Given the description of an element on the screen output the (x, y) to click on. 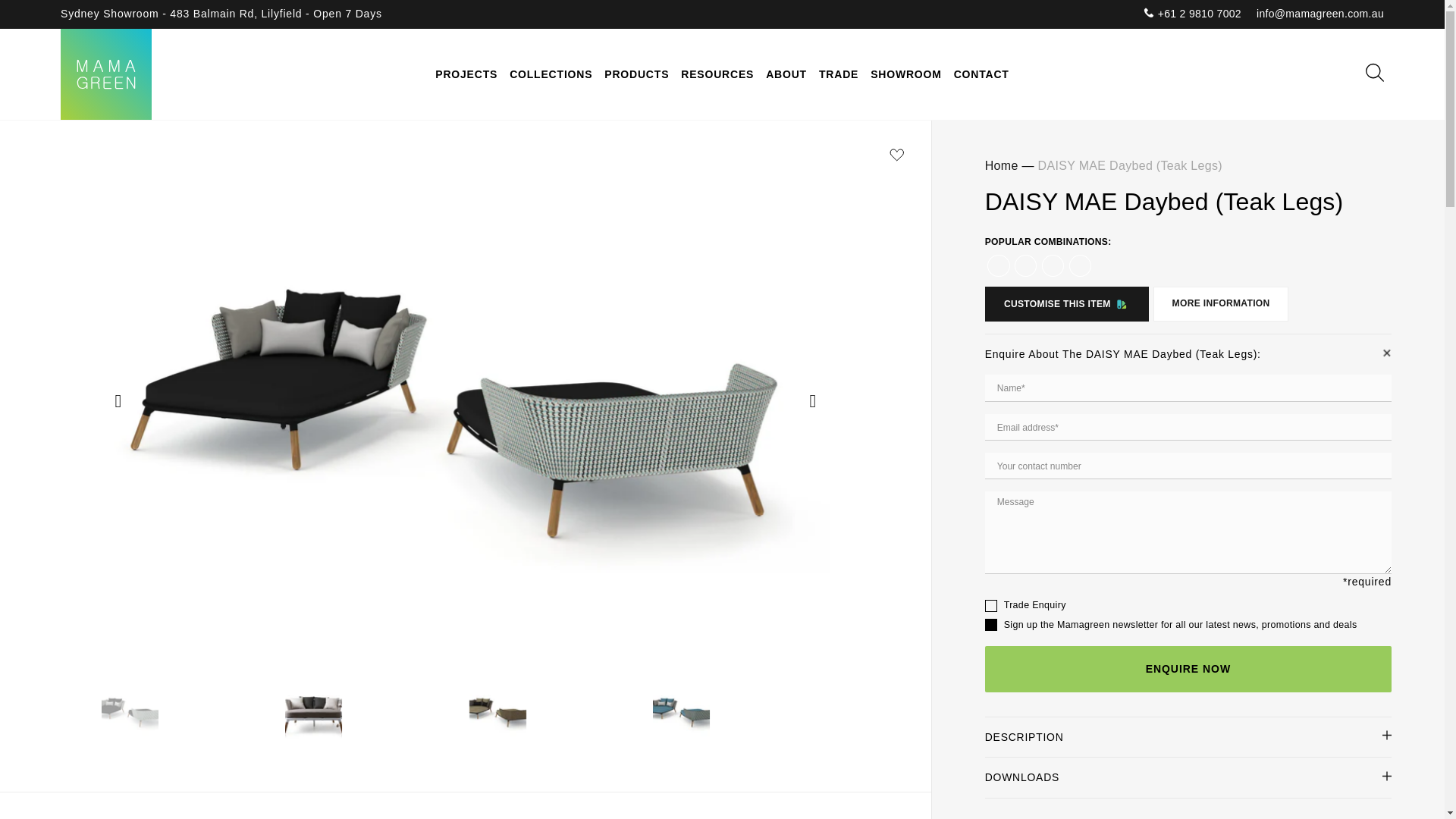
Projects (466, 74)
Sydney Showroom - 483 Balmain Rd, Lilyfield - Open 7 Days (221, 13)
PROJECTS (466, 74)
Sydney Showroom - 483 Balmain Rd, Lilyfield - Open 7 Days (221, 13)
Products (636, 74)
COLLECTIONS (550, 74)
PRODUCTS (636, 74)
RESOURCES (717, 74)
Collections (550, 74)
